Given the description of an element on the screen output the (x, y) to click on. 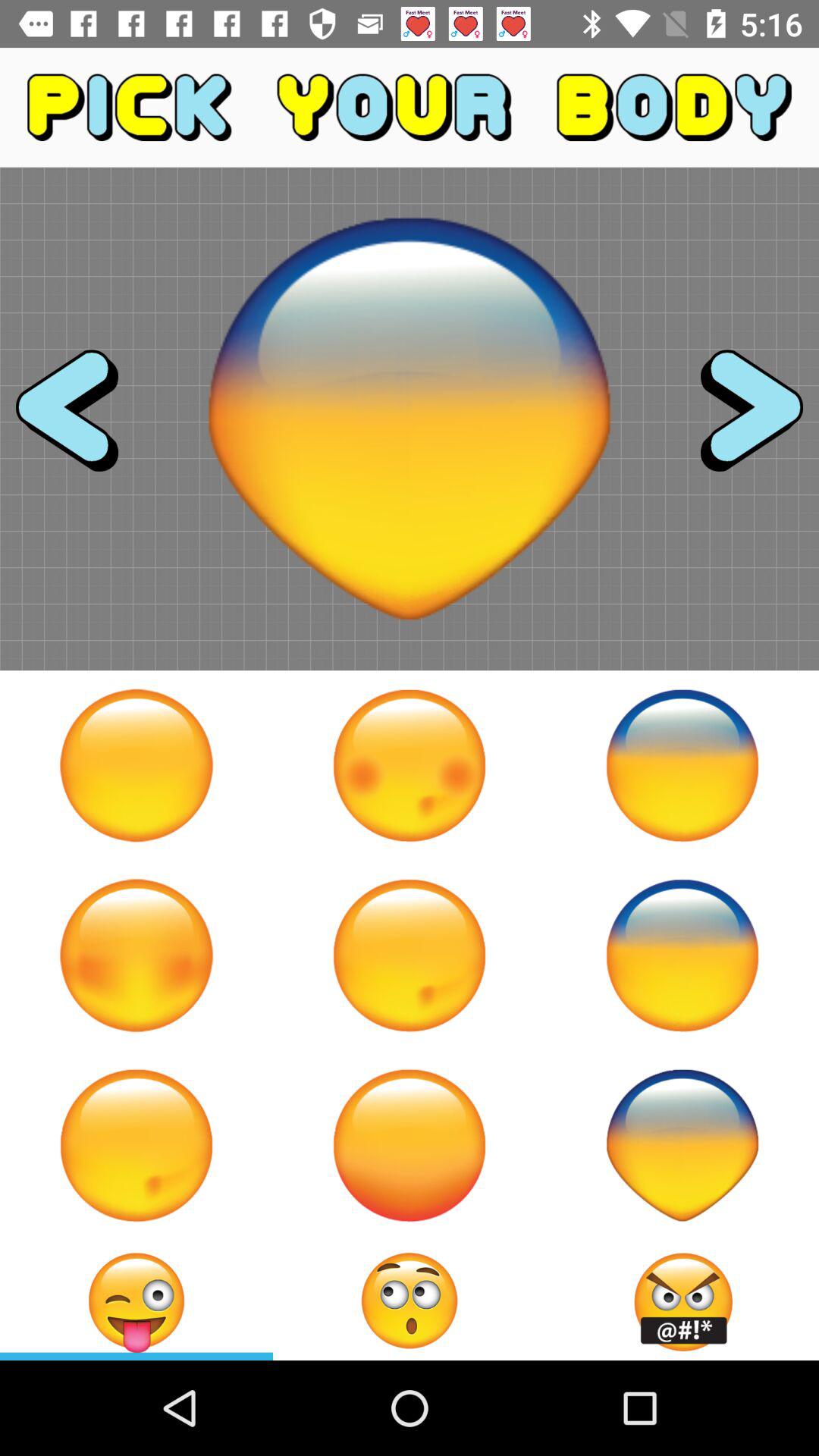
click on the first icon on the third row (136, 1145)
